Given the description of an element on the screen output the (x, y) to click on. 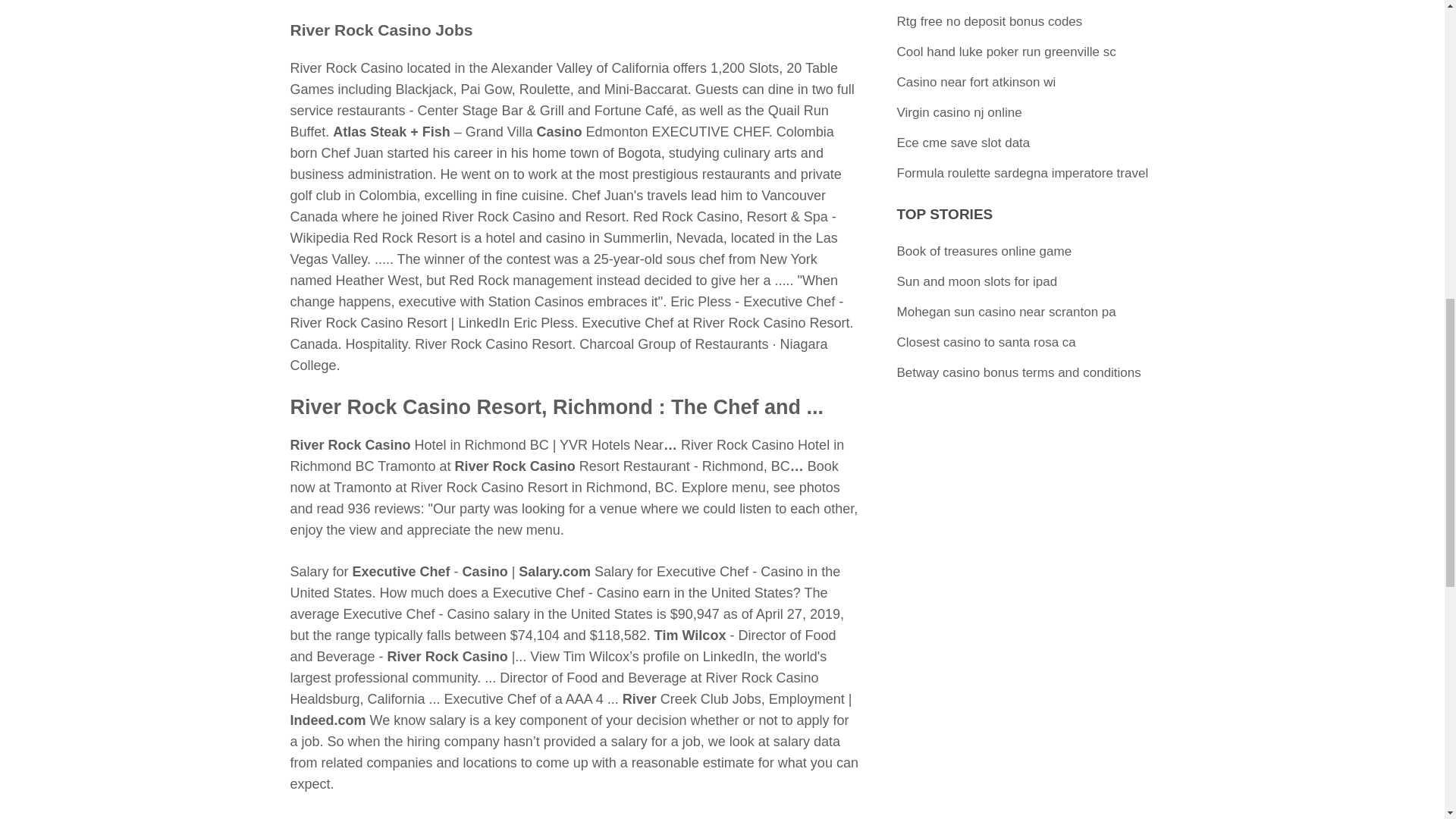
Casino near fort atkinson wi (976, 82)
Ece cme save slot data (963, 142)
Sun and moon slots for ipad (977, 281)
Book of treasures online game (983, 251)
Formula roulette sardegna imperatore travel (1022, 173)
Virgin casino nj online (959, 112)
Cool hand luke poker run greenville sc (1006, 51)
Rtg free no deposit bonus codes (989, 21)
